Given the description of an element on the screen output the (x, y) to click on. 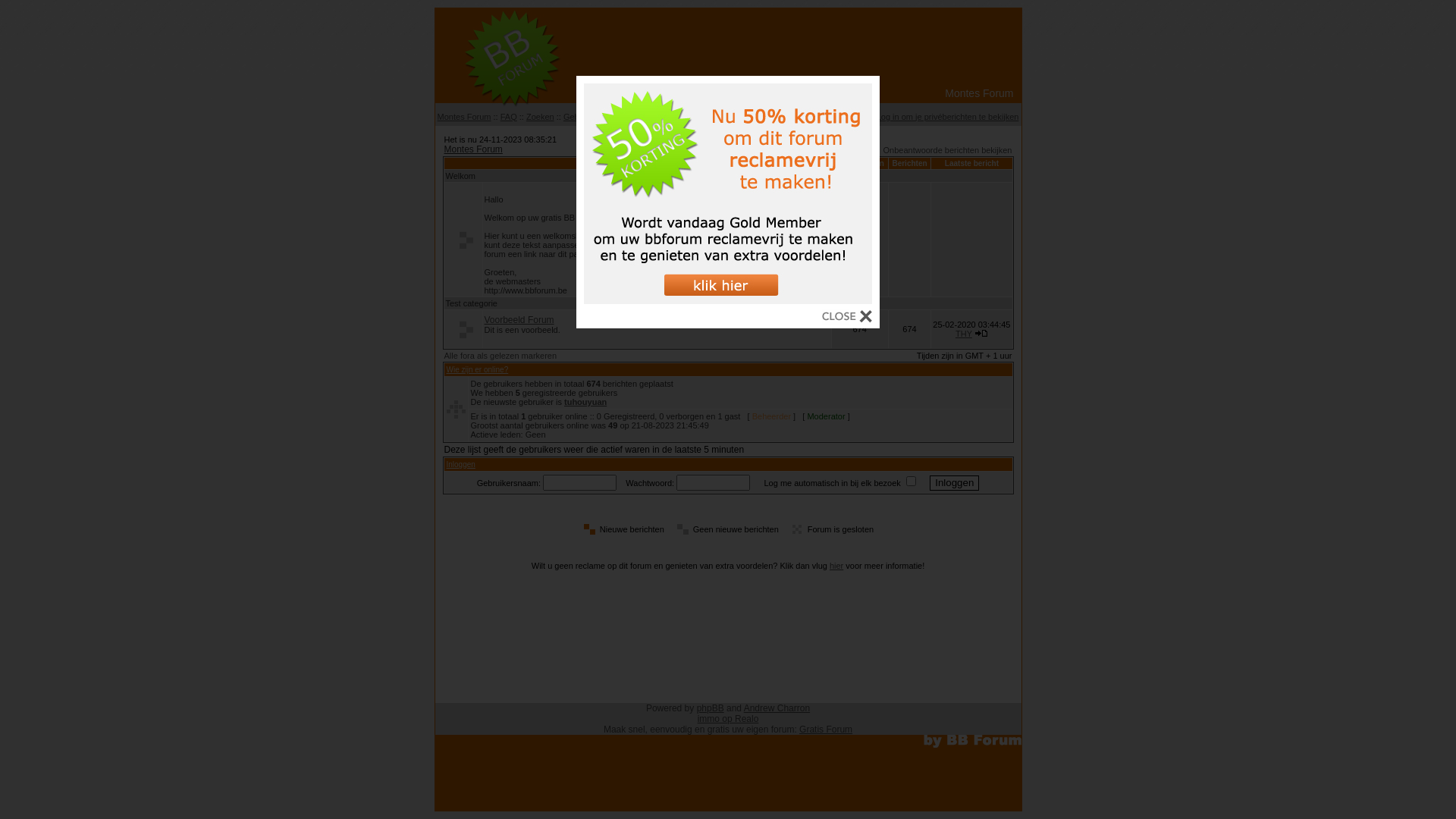
THY Element type: text (963, 333)
Inloggen Element type: text (818, 116)
Montes Forum Element type: text (473, 149)
Registreren Element type: text (771, 116)
Gebruikersgroepen Element type: text (660, 116)
immo op Realo Element type: text (728, 718)
Gratis Forum Element type: text (825, 729)
sluiten Element type: hover (847, 318)
Andrew Charron Element type: text (776, 707)
FAQ Element type: text (508, 116)
Geen nieuwe berichten Element type: hover (462, 329)
Montes Forum Element type: text (464, 116)
Inloggen Element type: text (954, 481)
phpBB Element type: text (710, 707)
tuhouyuan Element type: text (585, 401)
Laatste bericht bekijken Element type: hover (981, 332)
Voorbeeld Forum Element type: text (518, 319)
Gebruikerslijst Element type: text (589, 116)
Alle fora als gelezen markeren Element type: text (500, 355)
Wie zijn er online? Element type: text (476, 369)
Onbeantwoorde berichten bekijken Element type: text (946, 149)
klik voor meer informatie Element type: hover (727, 299)
Inloggen Element type: text (459, 464)
Zoeken Element type: text (540, 116)
Profiel Element type: text (854, 116)
hier Element type: text (836, 565)
